Given the description of an element on the screen output the (x, y) to click on. 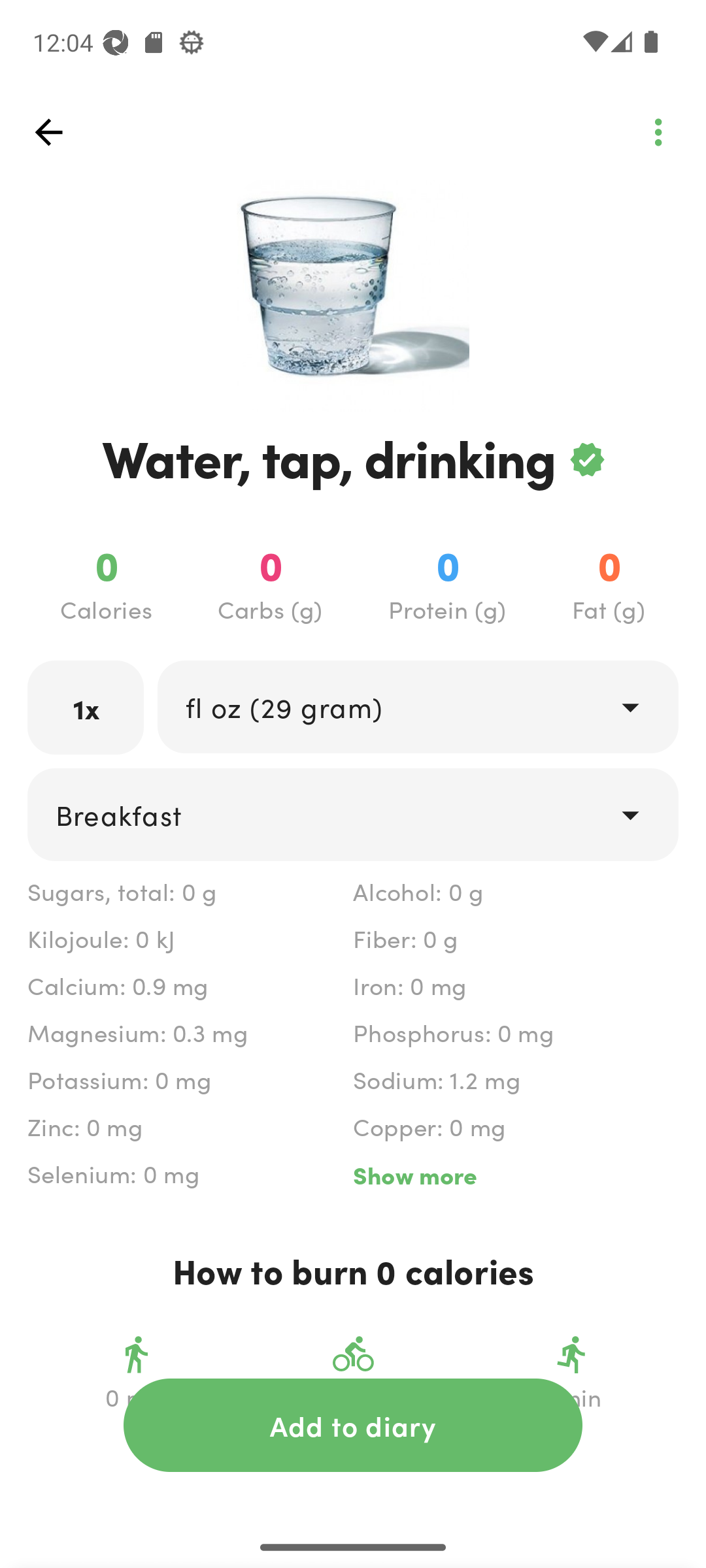
top_left_action (48, 132)
top_left_action (658, 132)
1x labeled_edit_text (85, 707)
drop_down fl oz (29 gram) (417, 706)
drop_down Breakfast (352, 814)
Show more (515, 1174)
action_button Add to diary (352, 1425)
